Given the description of an element on the screen output the (x, y) to click on. 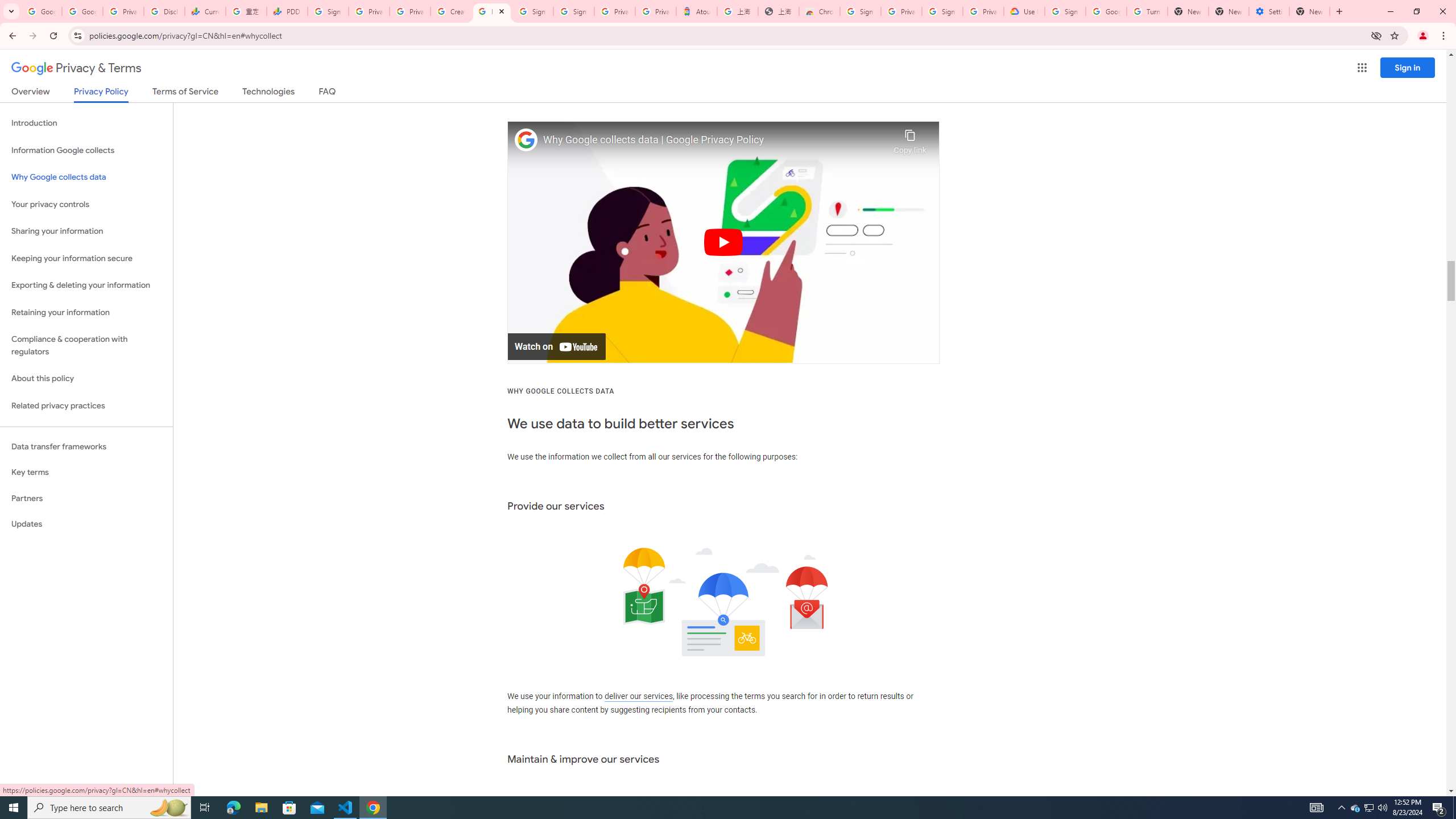
Google Workspace Admin Community (41, 11)
Privacy Checkup (409, 11)
Sign in - Google Accounts (942, 11)
Related privacy practices (86, 405)
Your privacy controls (86, 204)
Chrome Web Store - Color themes by Chrome (818, 11)
Retaining your information (86, 312)
